Given the description of an element on the screen output the (x, y) to click on. 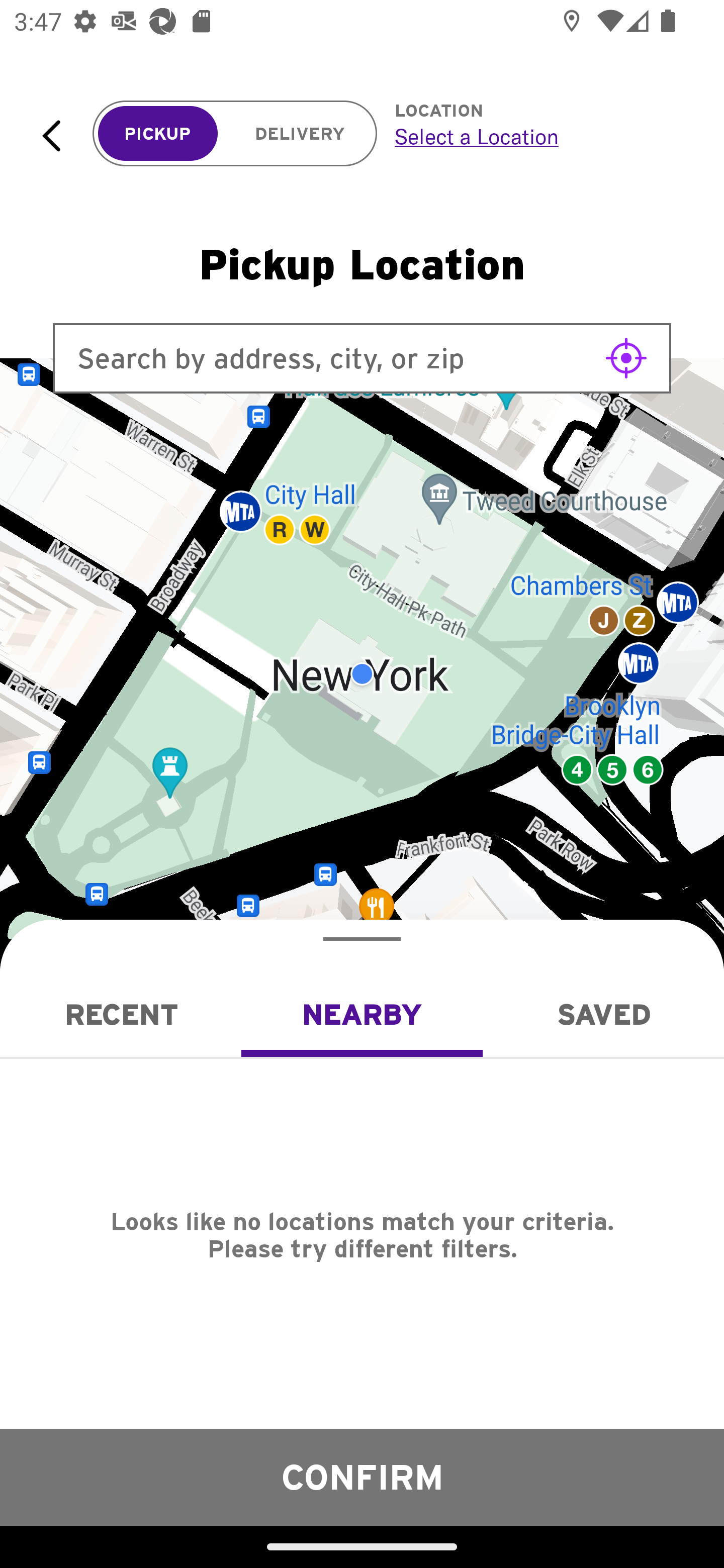
PICKUP (157, 133)
DELIVERY (299, 133)
Select a Location (536, 136)
Search by address, city, or zip (361, 358)
Google Map (362, 674)
Recent RECENT (120, 1014)
Saved SAVED (603, 1014)
CONFIRM (362, 1476)
